Given the description of an element on the screen output the (x, y) to click on. 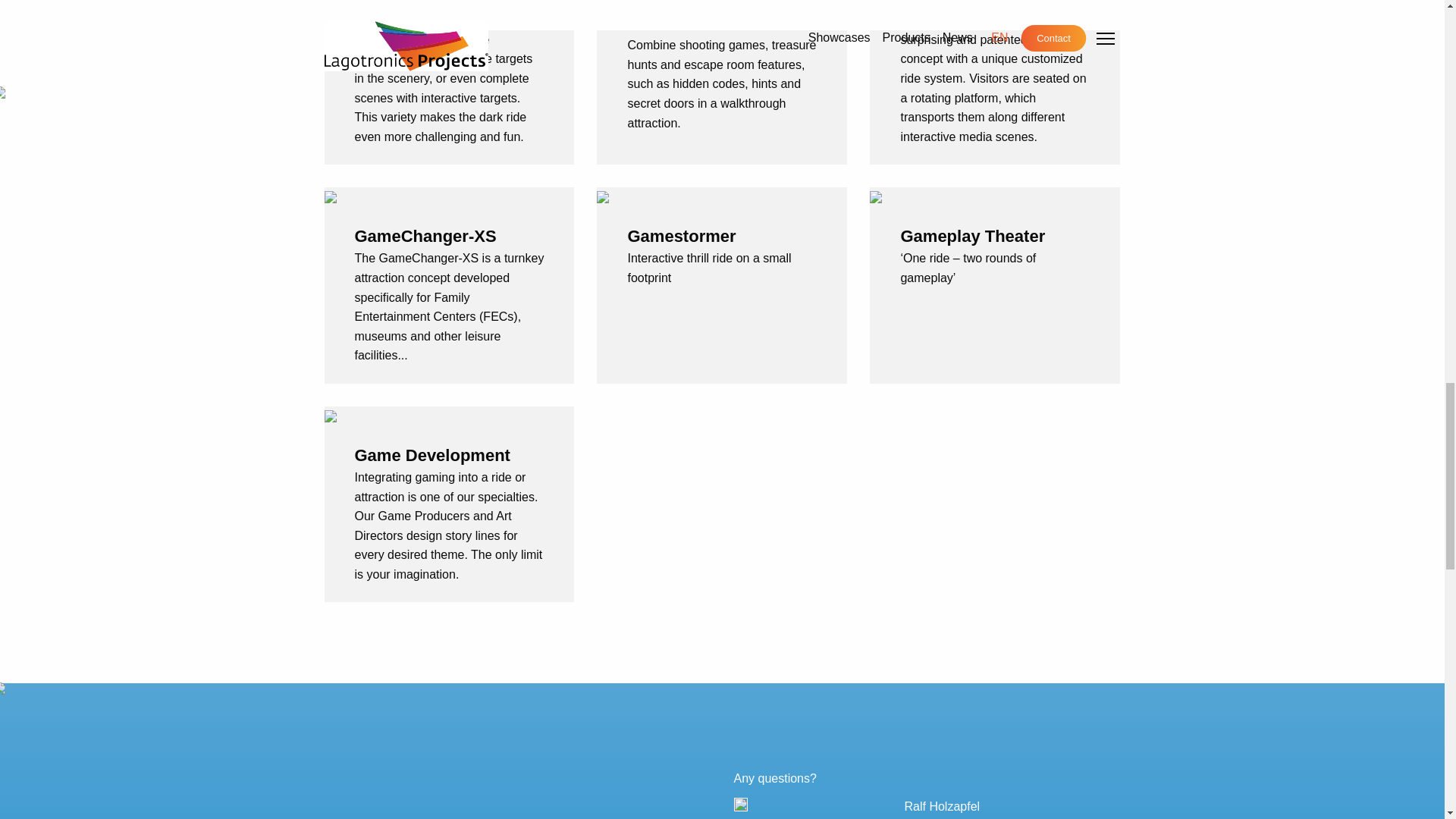
GameChanger (956, 3)
Gamestormer (681, 235)
Walkthrough Attractions (678, 16)
Game Development (433, 455)
GameChanger-XS (425, 235)
Gameplay Theater (972, 235)
Combi Dark Rides (427, 3)
